Given the description of an element on the screen output the (x, y) to click on. 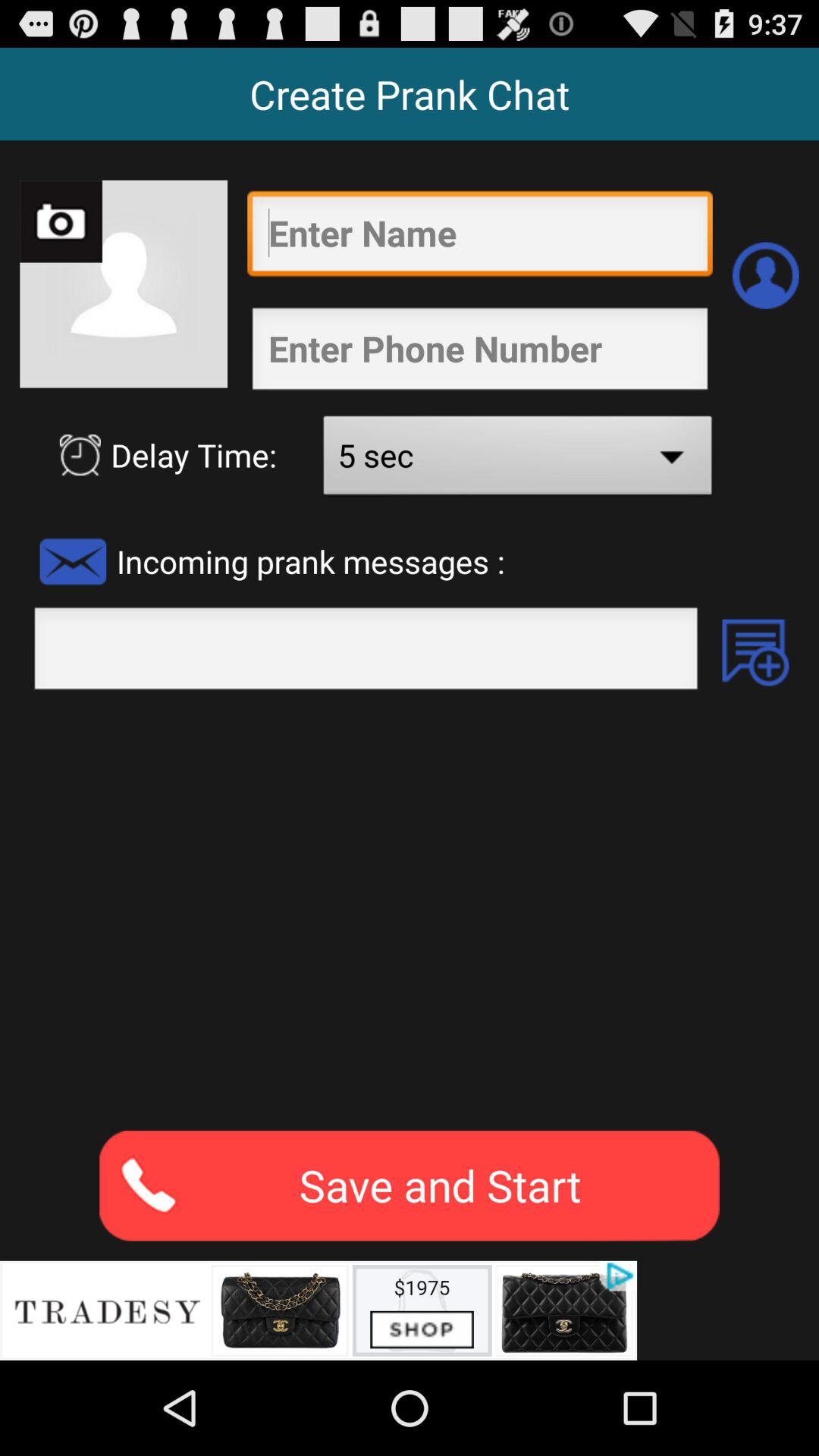
my create prank chat (479, 352)
